Given the description of an element on the screen output the (x, y) to click on. 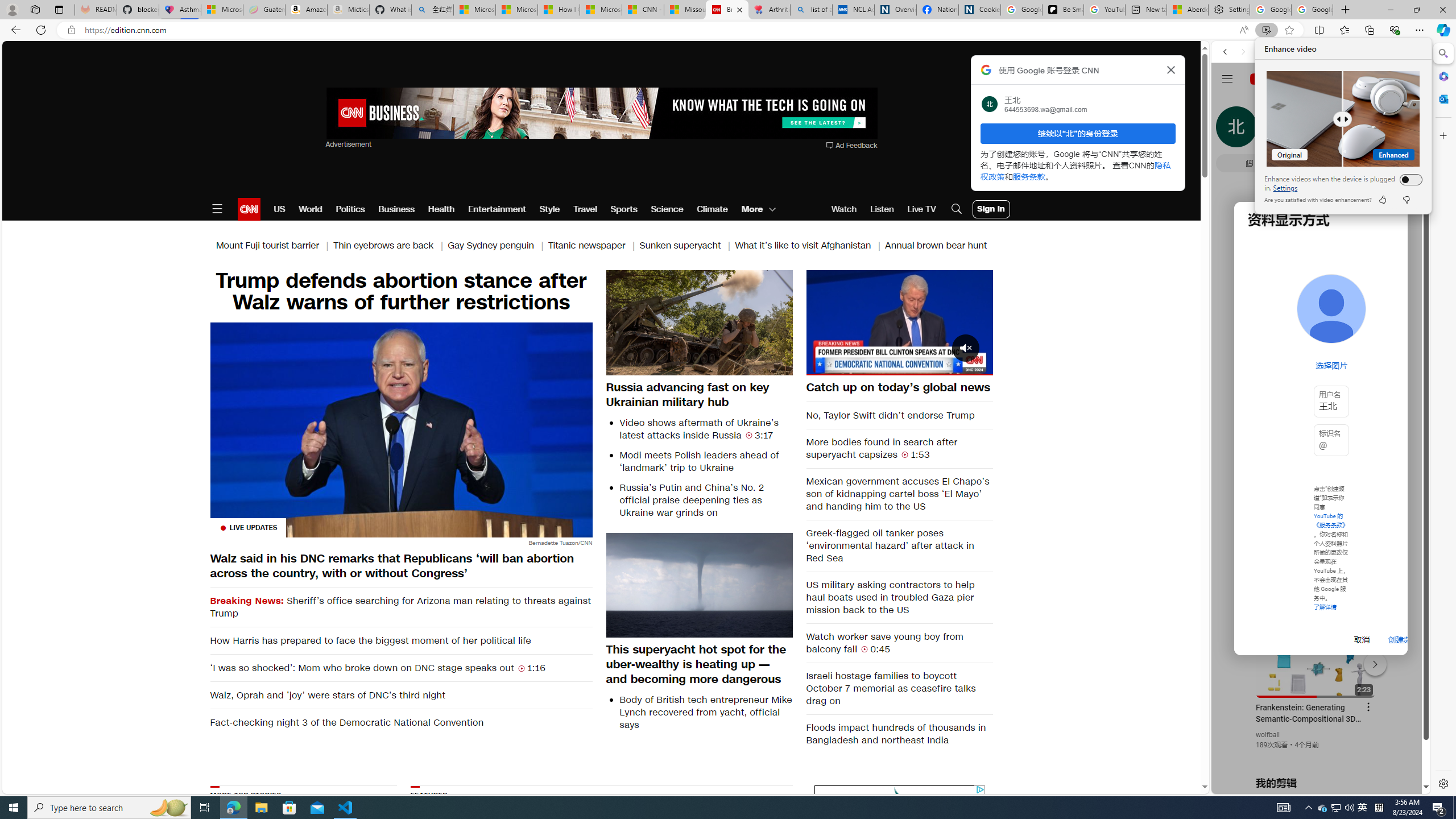
Cookies (979, 9)
Running applications (700, 807)
World (309, 209)
